Given the description of an element on the screen output the (x, y) to click on. 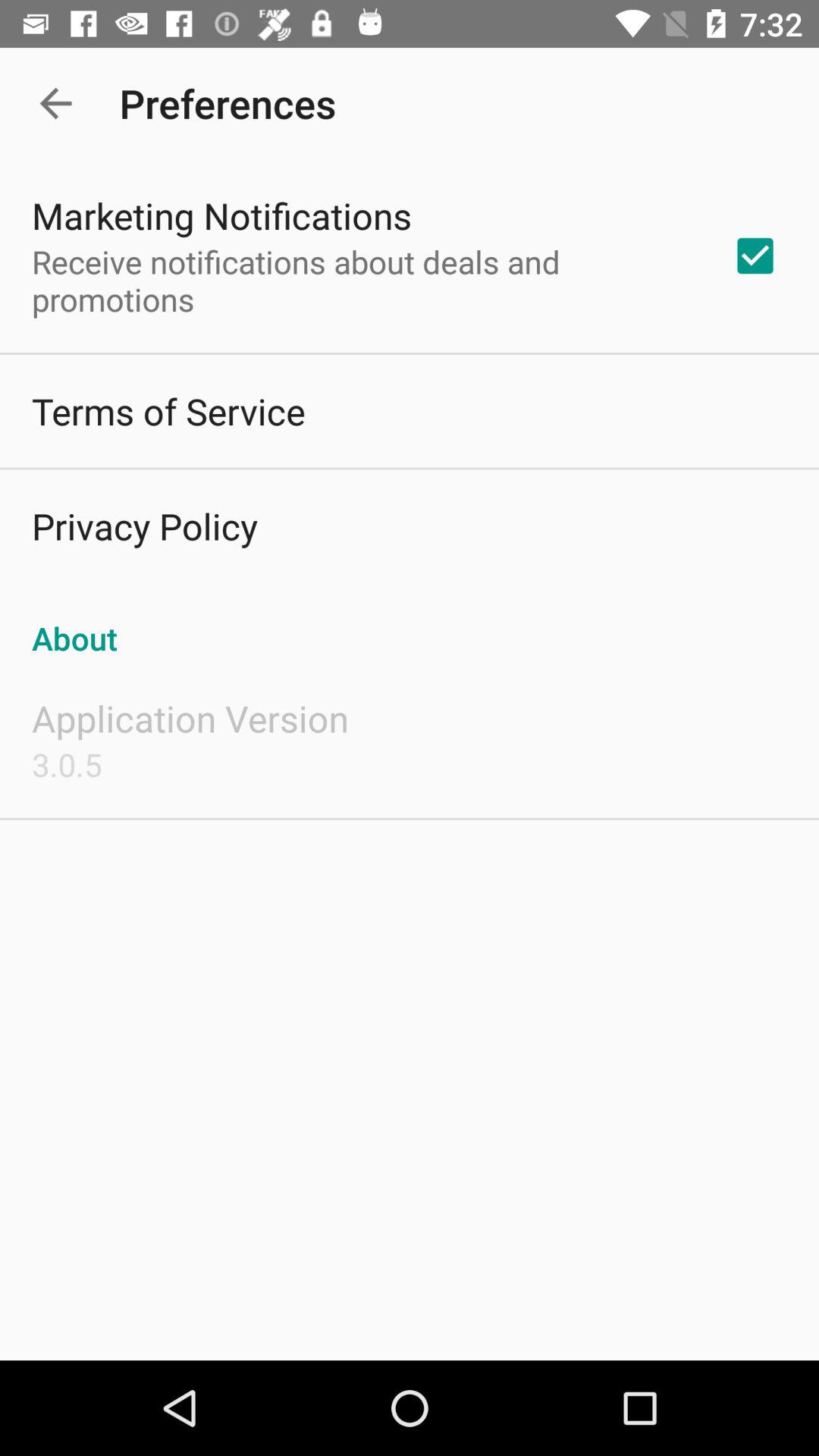
flip until the 3.0.5 (66, 764)
